Given the description of an element on the screen output the (x, y) to click on. 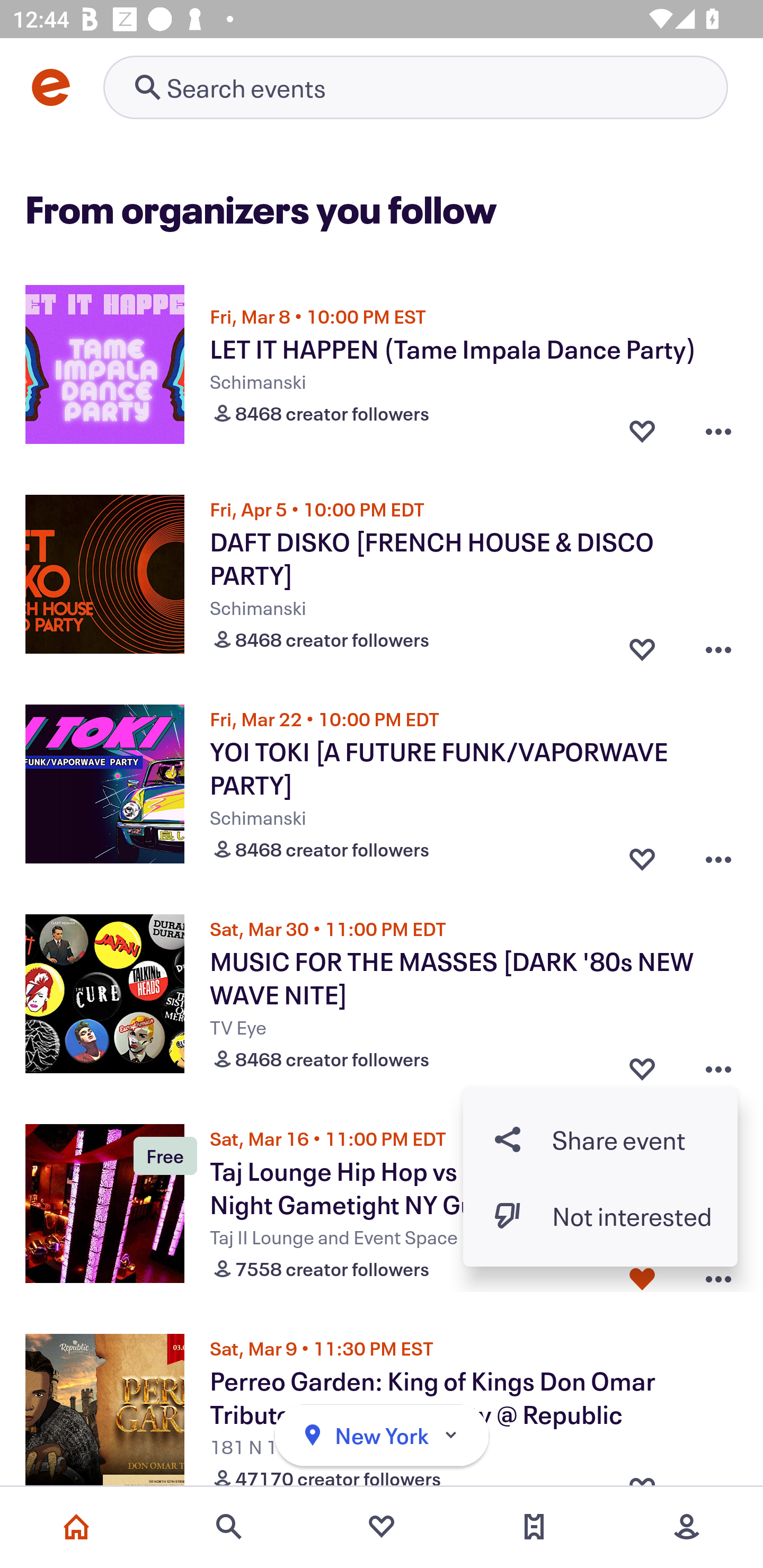
Share button Share event (600, 1138)
Dislike event button Not interested (600, 1215)
